Given the description of an element on the screen output the (x, y) to click on. 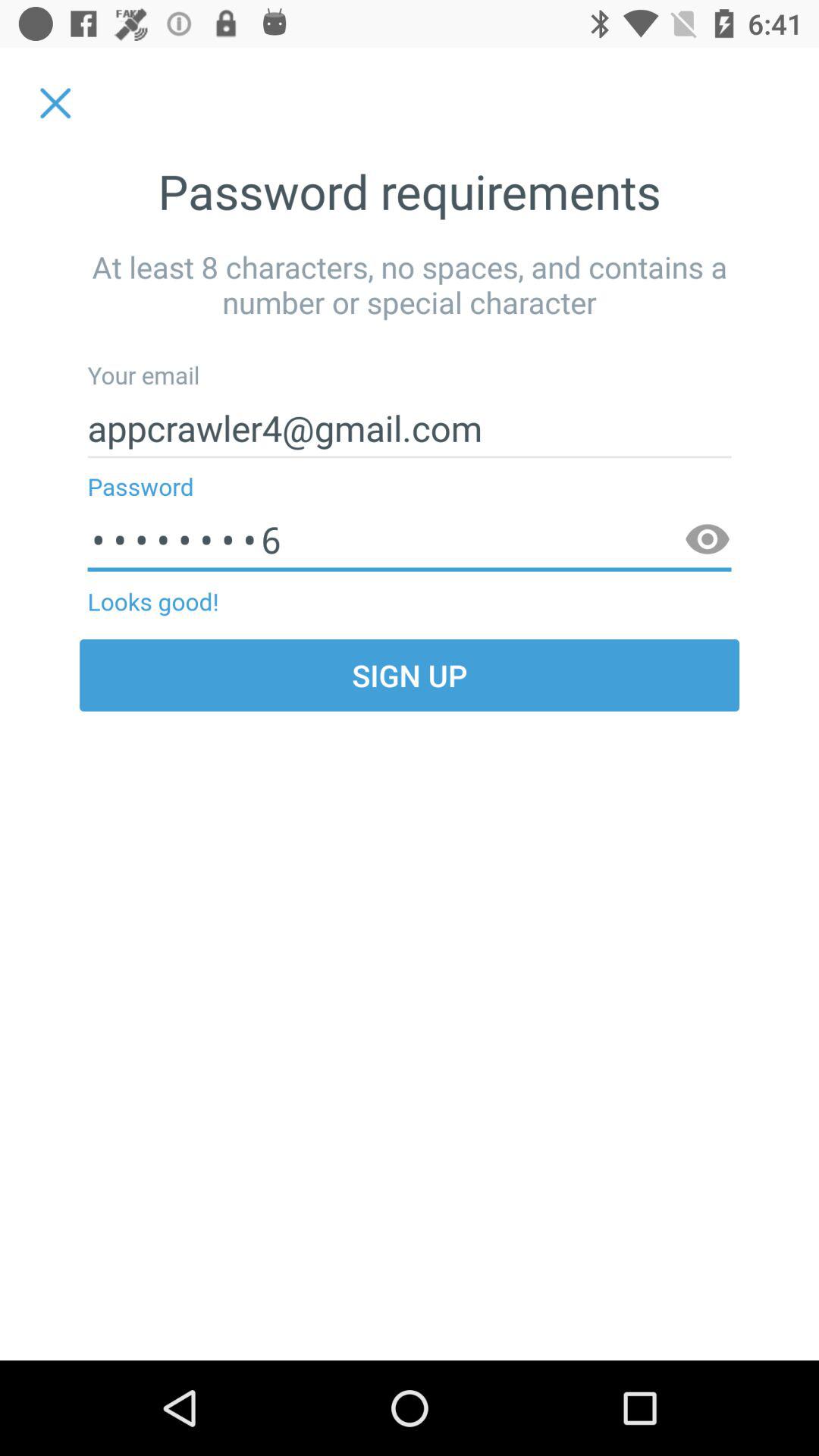
scroll to the crowd3116 (409, 540)
